Given the description of an element on the screen output the (x, y) to click on. 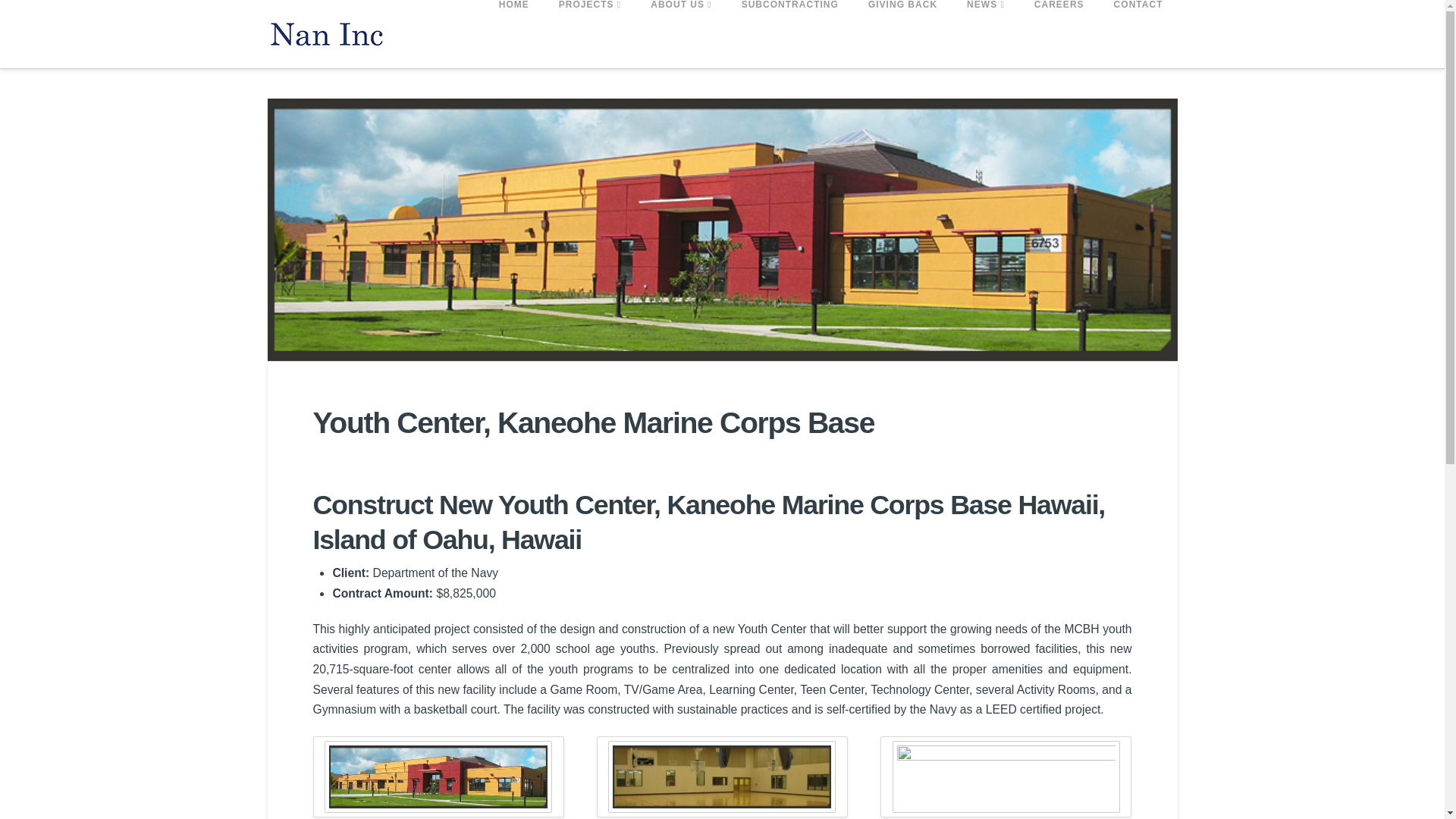
SUBCONTRACTING (789, 33)
GIVING BACK (902, 33)
PROJECTS (588, 33)
CONTACT (1138, 33)
ABOUT US (679, 33)
NEWS (985, 33)
CAREERS (1059, 33)
